Given the description of an element on the screen output the (x, y) to click on. 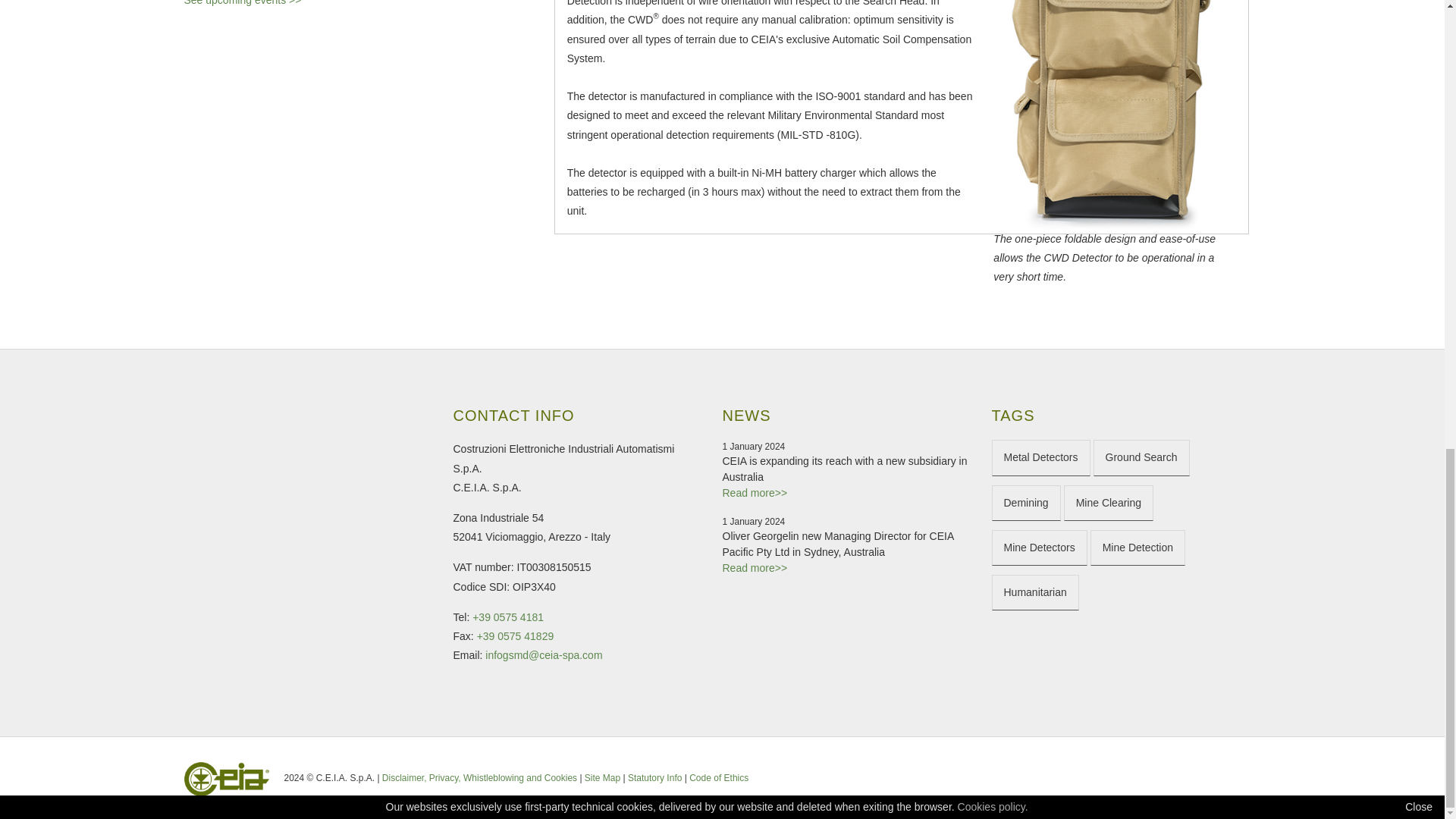
CEIA CWD - detail (1106, 115)
